Given the description of an element on the screen output the (x, y) to click on. 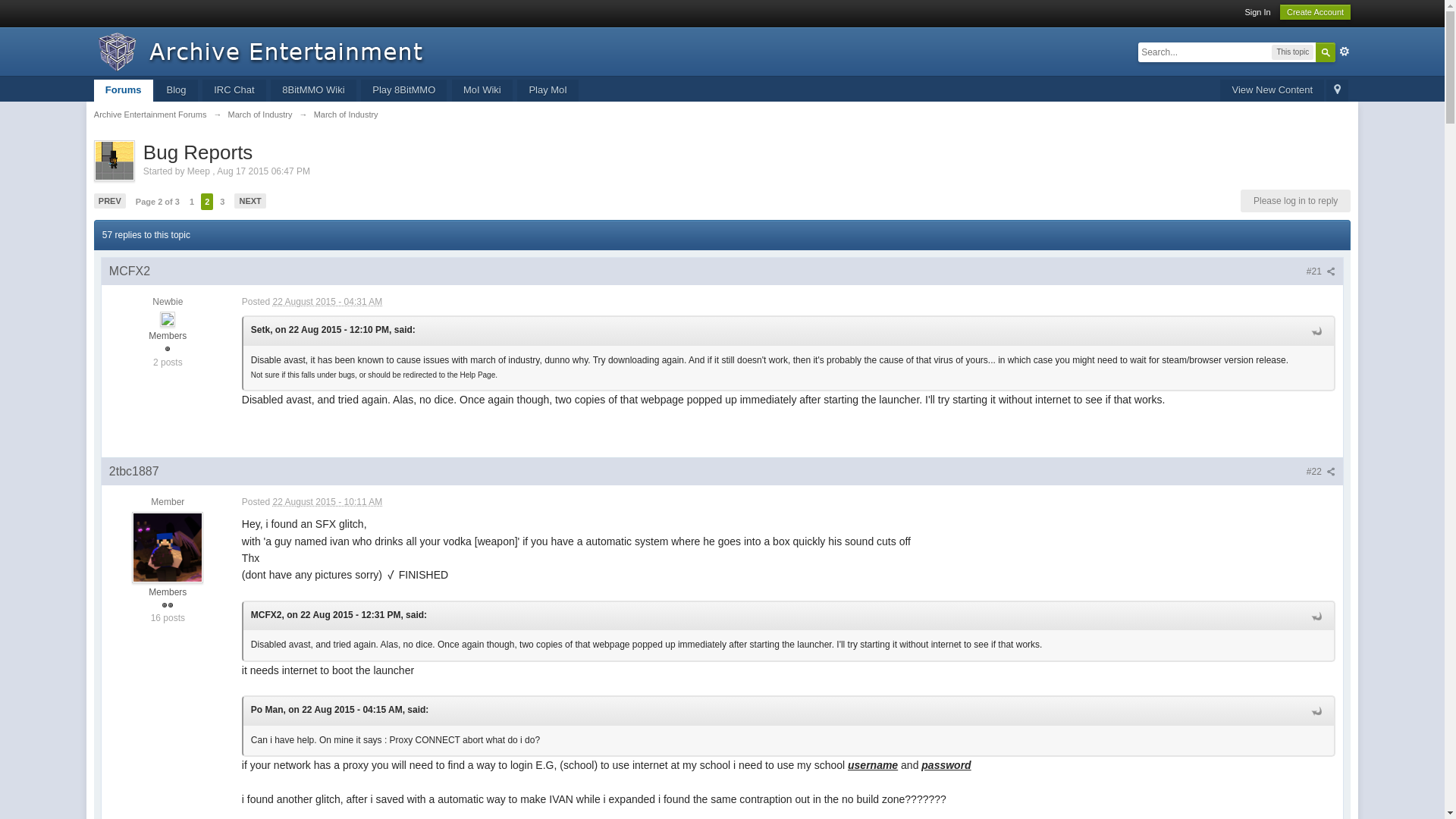
Open Quick Navigation (1337, 90)
3 (221, 201)
Sign In (1256, 11)
8BitMMO Wiki (312, 90)
View New Content (1271, 90)
March of Industry (260, 113)
Bug Reports - Page 1 (191, 201)
Forums (123, 90)
Advanced (1344, 51)
MoI Wiki (481, 90)
March of Industry (346, 113)
Create Account (1315, 11)
Create Account (1315, 11)
Go to community index (264, 50)
